Given the description of an element on the screen output the (x, y) to click on. 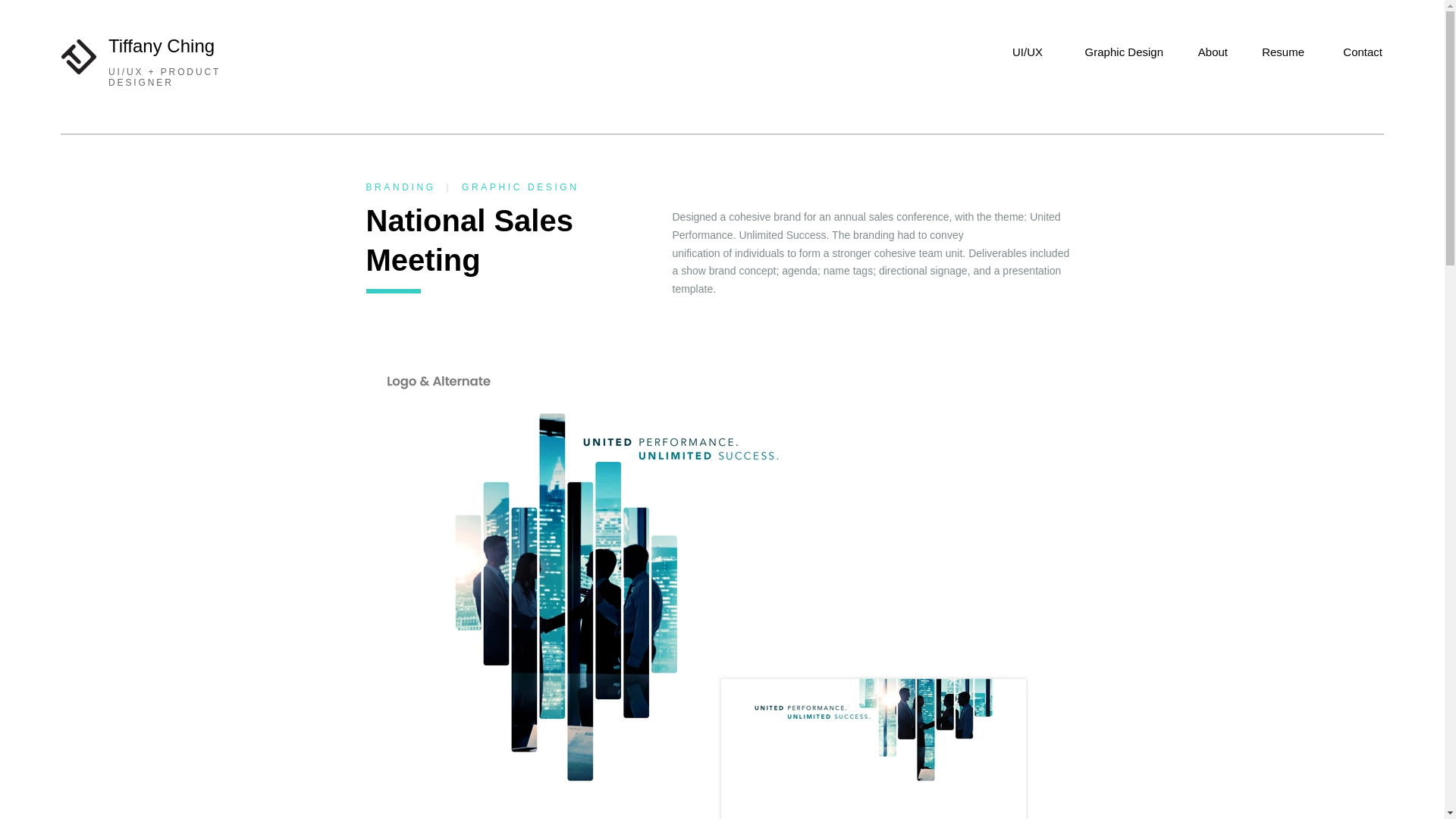
About (1208, 44)
Graphic Design (1116, 44)
Contact (1356, 44)
Tiffany Ching (160, 46)
Resume (1279, 44)
